Given the description of an element on the screen output the (x, y) to click on. 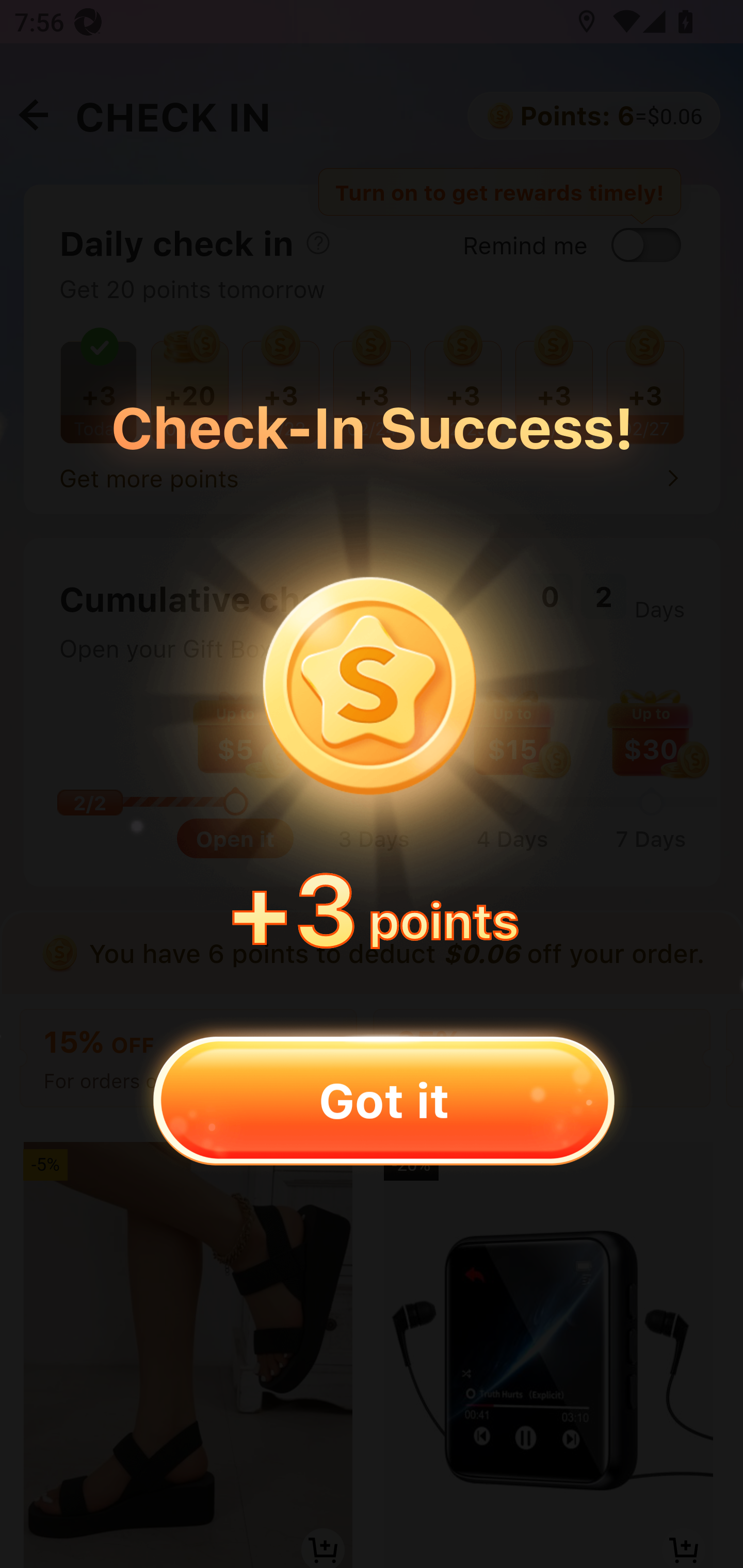
Got it (383, 1099)
